Given the description of an element on the screen output the (x, y) to click on. 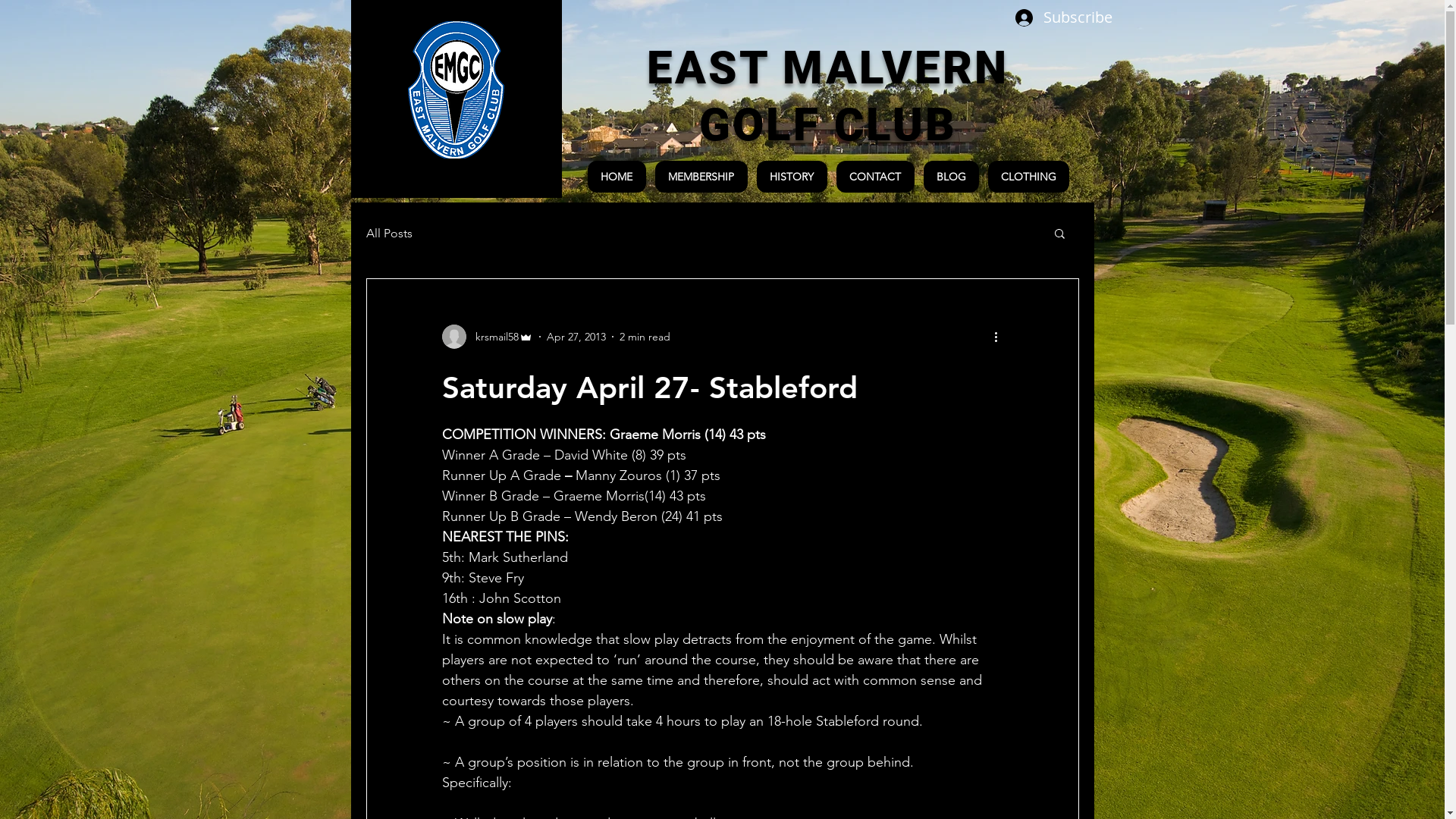
CONTACT Element type: text (874, 176)
CLOTHING Element type: text (1027, 176)
HOME Element type: text (615, 176)
krsmail58 Element type: text (486, 336)
HISTORY Element type: text (791, 176)
All Posts Element type: text (388, 232)
MEMBERSHIP Element type: text (701, 176)
BLOG Element type: text (951, 176)
Subscribe Element type: text (1048, 17)
